Given the description of an element on the screen output the (x, y) to click on. 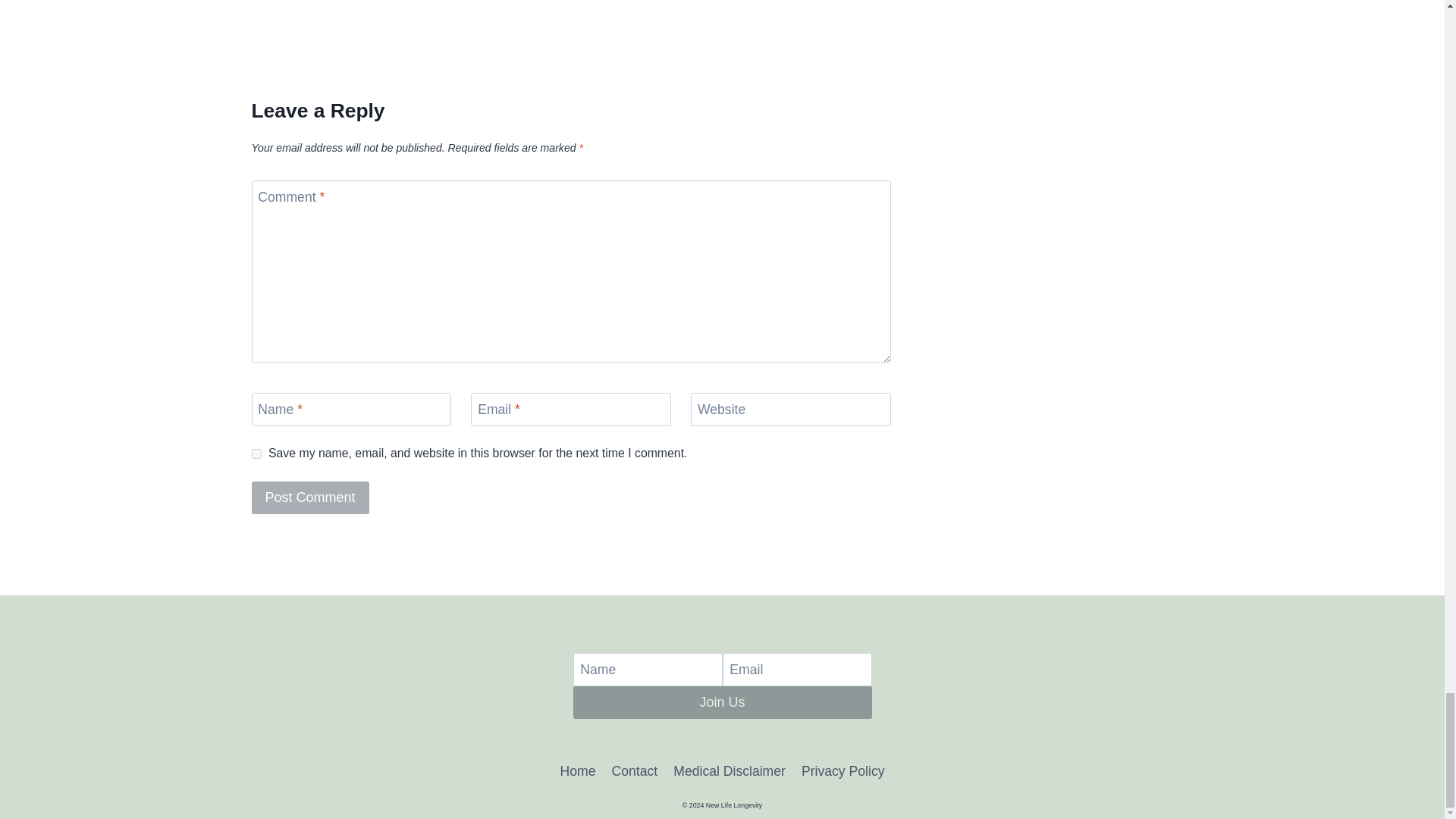
Post Comment (310, 497)
Join Us (722, 702)
yes (256, 453)
